Given the description of an element on the screen output the (x, y) to click on. 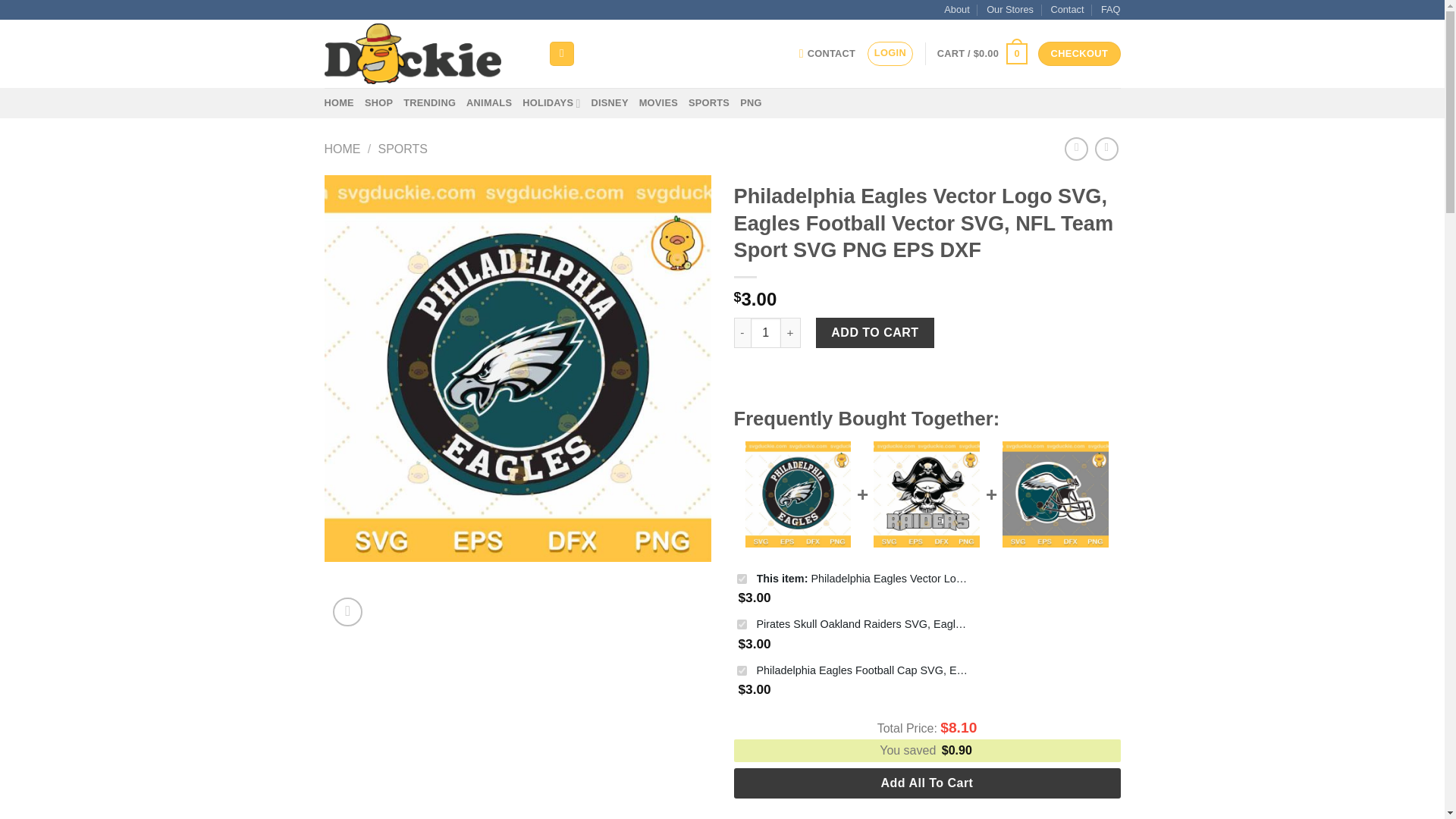
5655 (741, 670)
ADD TO CART (874, 332)
HOLIDAYS (550, 102)
HOME (342, 148)
SHOP (379, 102)
SVG Duckie - SVG File (424, 53)
SPORTS (708, 102)
DISNEY (609, 102)
Cart (982, 53)
Our Stores (1010, 9)
TRENDING (429, 102)
CONTACT (827, 52)
5676 (741, 578)
ANIMALS (488, 102)
FAQ (1110, 9)
